Given the description of an element on the screen output the (x, y) to click on. 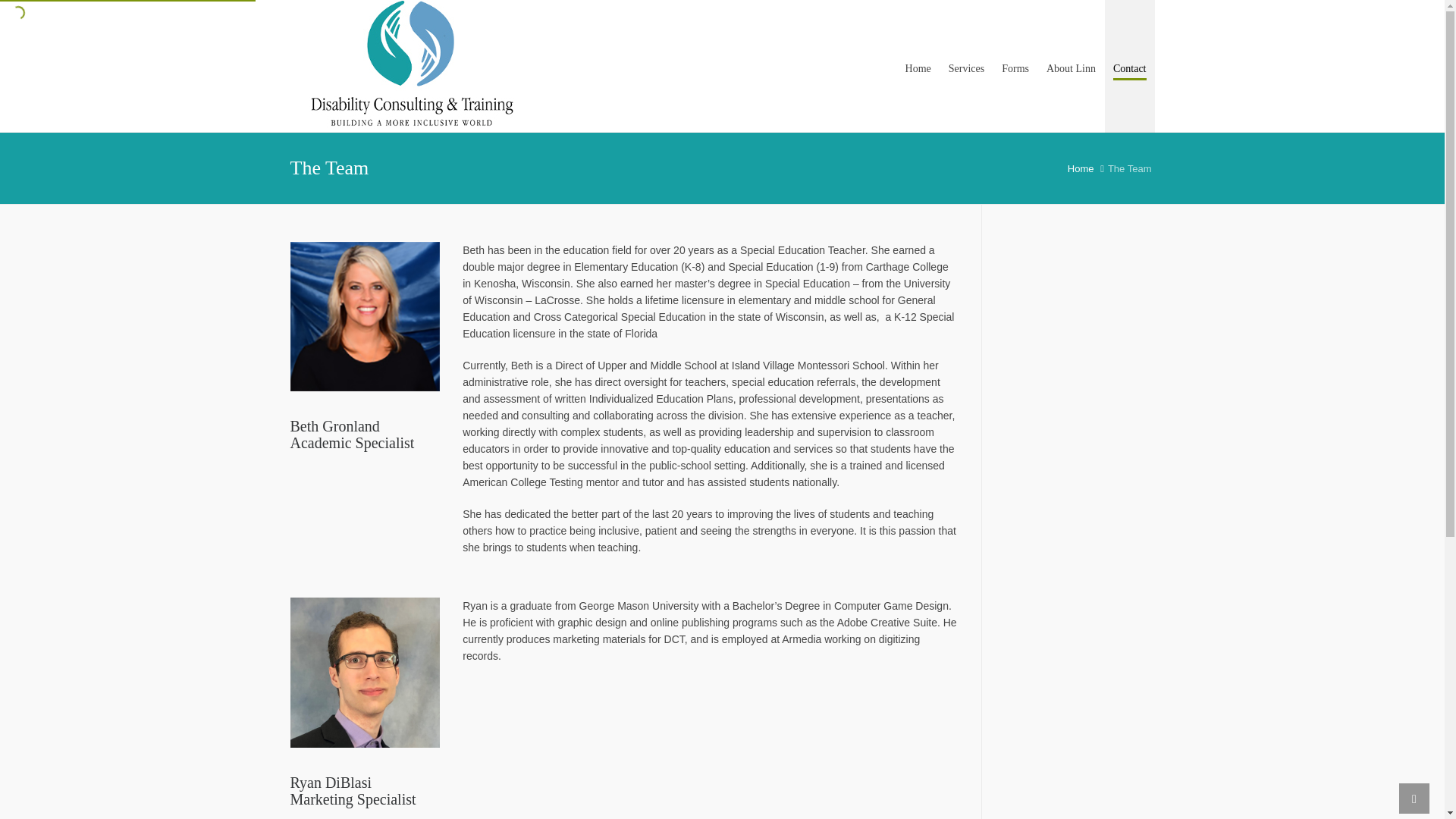
Home (1080, 168)
